Given the description of an element on the screen output the (x, y) to click on. 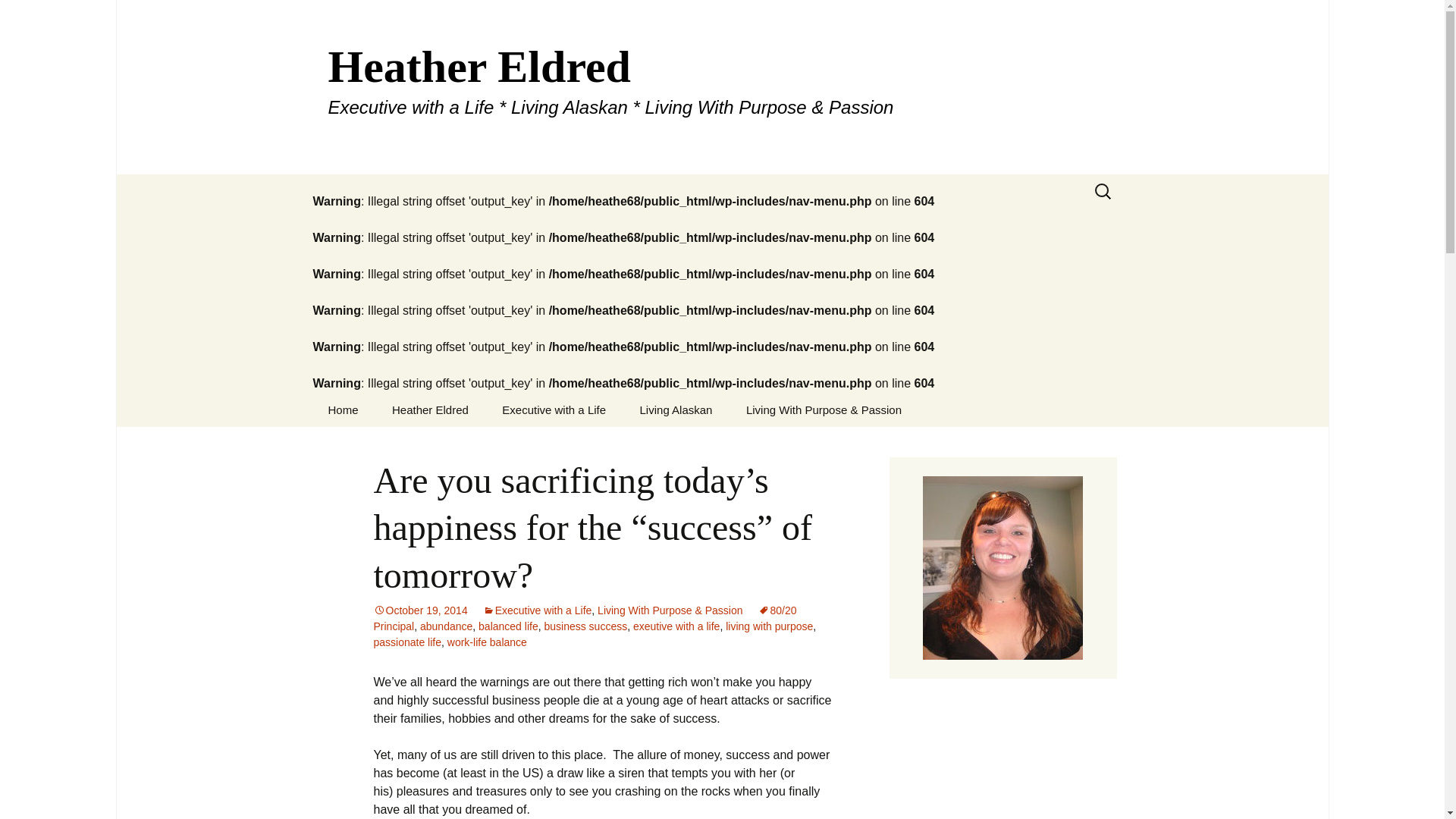
Search for: (1103, 191)
Executive with a Life (537, 610)
passionate life (406, 642)
abundance (445, 625)
Search (18, 15)
living with purpose (768, 625)
October 19, 2014 (419, 610)
Search (34, 15)
balanced life (508, 625)
